Given the description of an element on the screen output the (x, y) to click on. 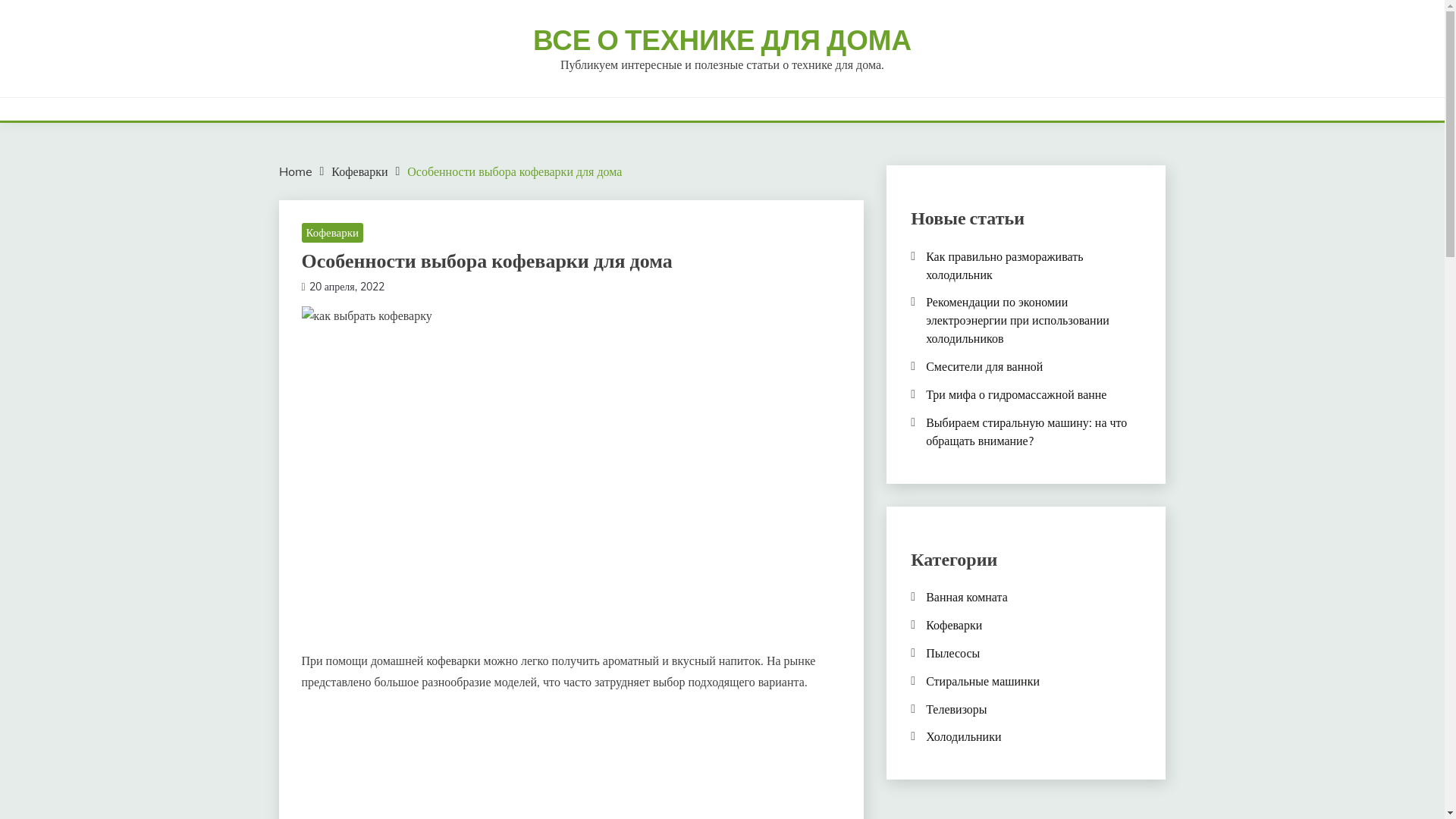
Home Element type: text (295, 170)
